Given the description of an element on the screen output the (x, y) to click on. 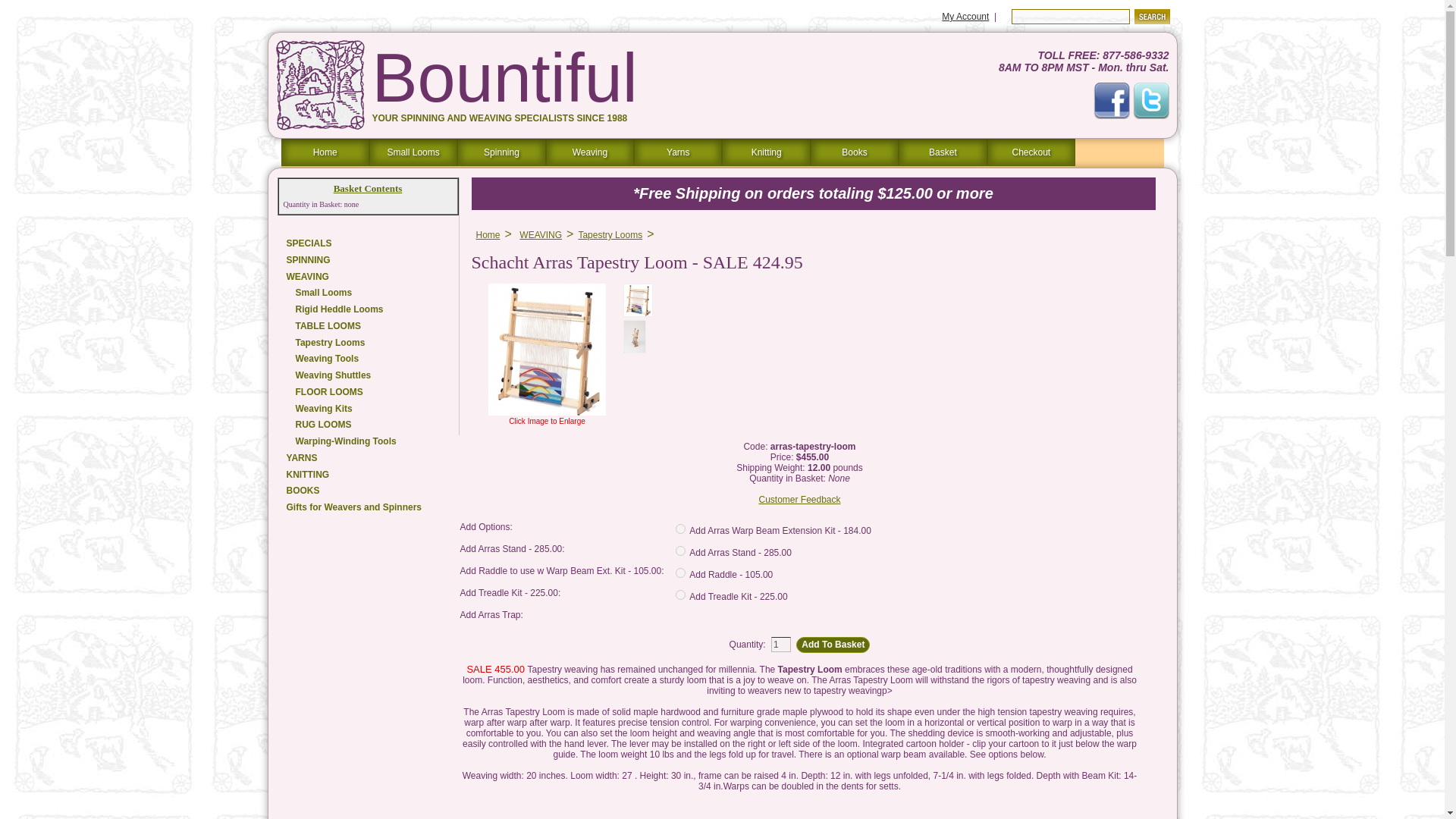
Weaving (589, 152)
Weaving Tools (368, 359)
Add-Stand (680, 551)
Add To Basket (832, 644)
Checkout (1031, 152)
Home (488, 235)
Basket (942, 152)
Spinning (500, 152)
Like us on Facebook (1111, 100)
Small Looms (368, 293)
BOOKS (368, 491)
TABLE LOOMS (368, 326)
WEAVING (540, 235)
YARNS (368, 458)
Tapestry Looms (610, 235)
